Given the description of an element on the screen output the (x, y) to click on. 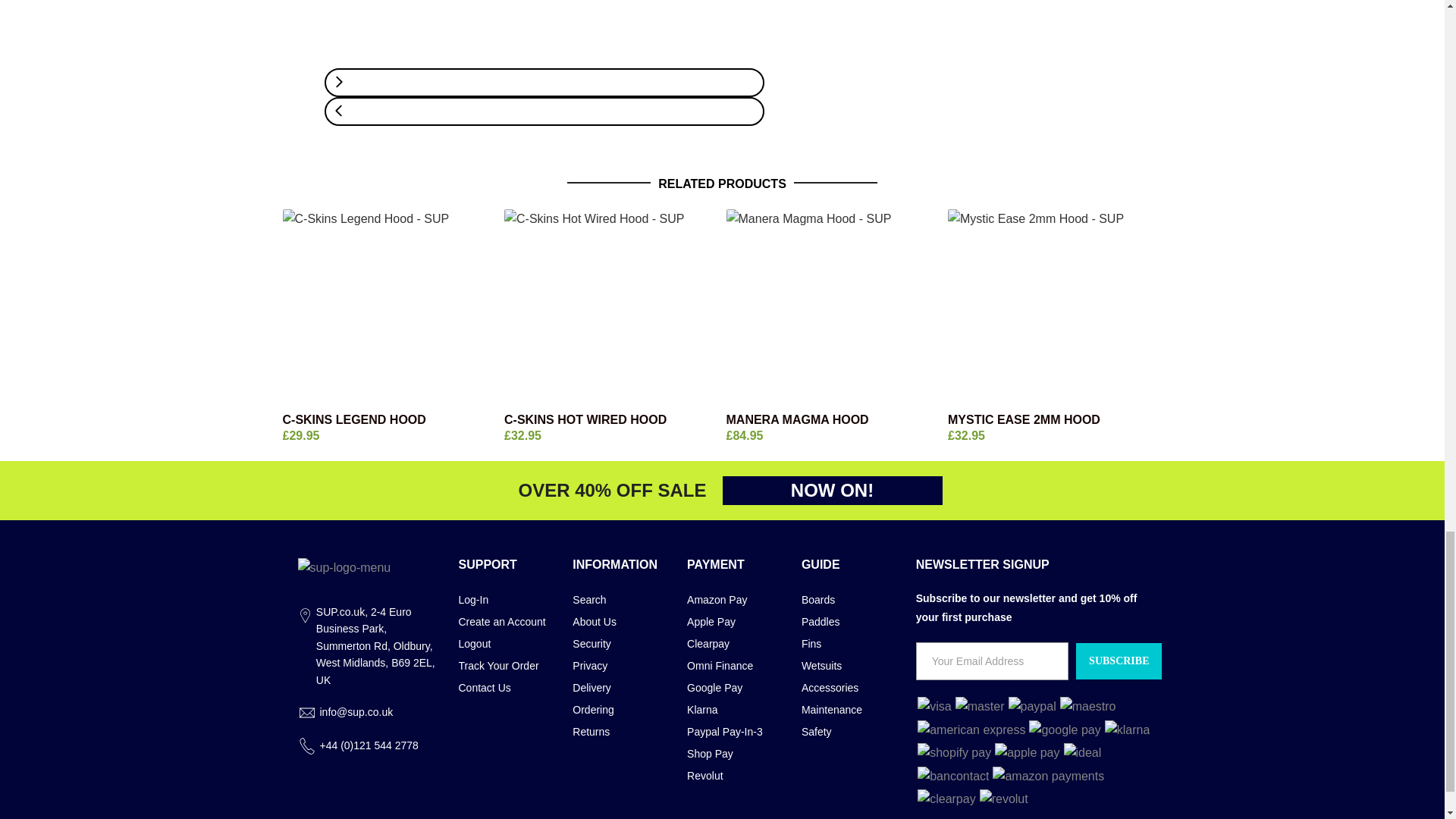
Manera Magma Hood (833, 307)
C-Skins Legend Hood (389, 419)
C-Skins Hot Wired Hood (611, 419)
C-Skins Legend Hood (389, 307)
C-Skins Hot Wired Hood (611, 307)
